Given the description of an element on the screen output the (x, y) to click on. 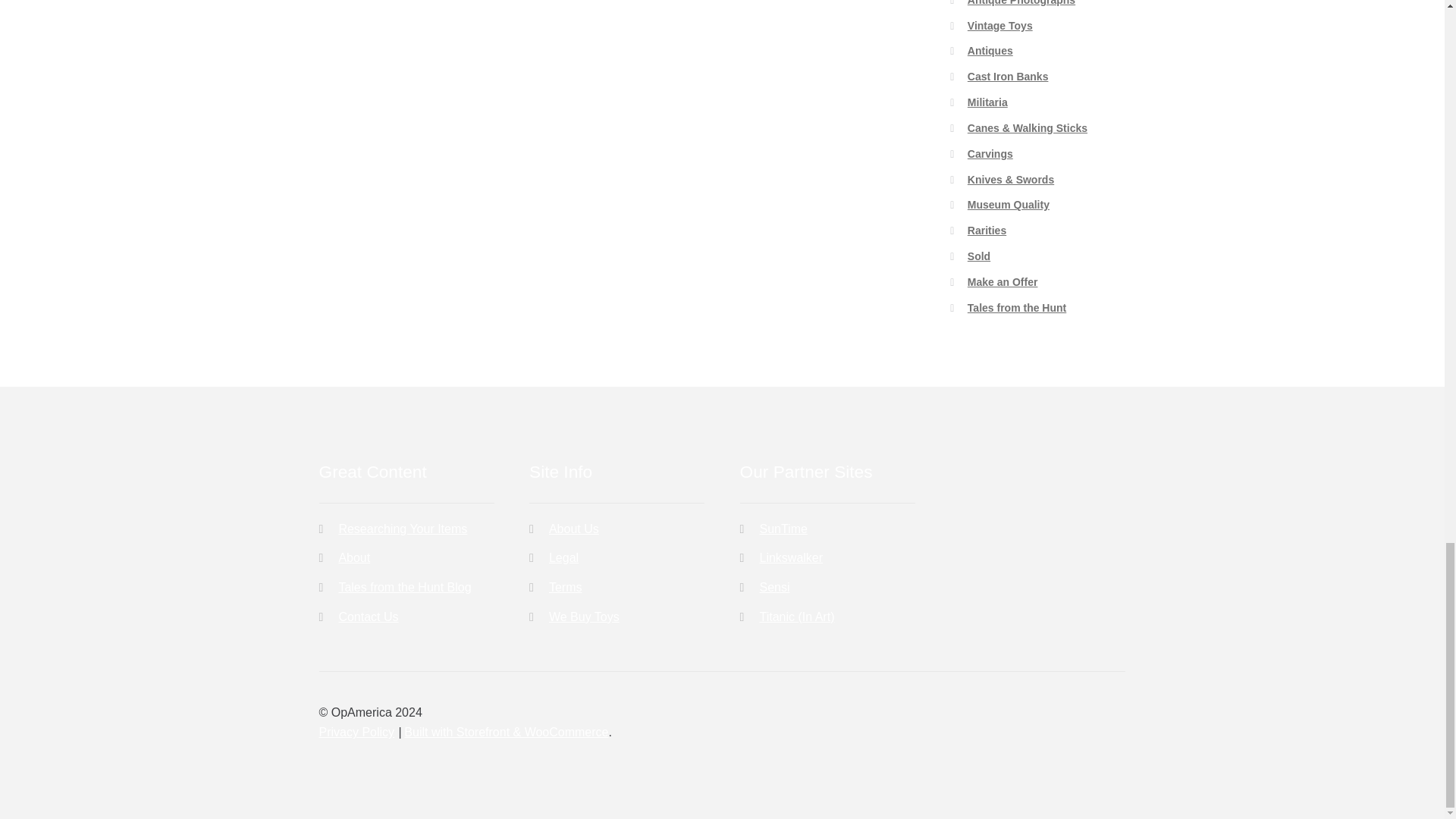
WooCommerce - The Best eCommerce Platform for WordPress (506, 731)
